Given the description of an element on the screen output the (x, y) to click on. 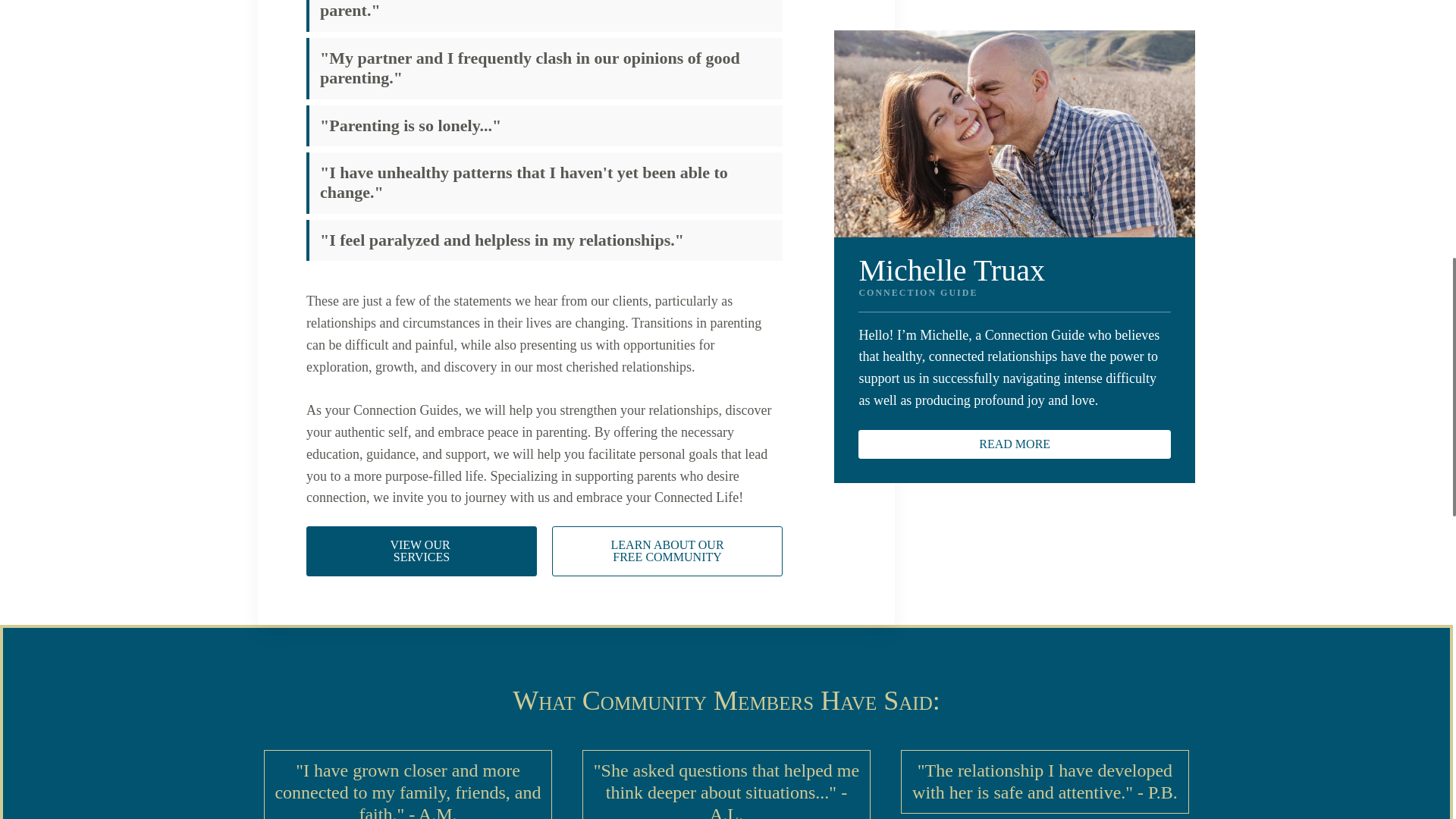
READ MORE (421, 551)
